Given the description of an element on the screen output the (x, y) to click on. 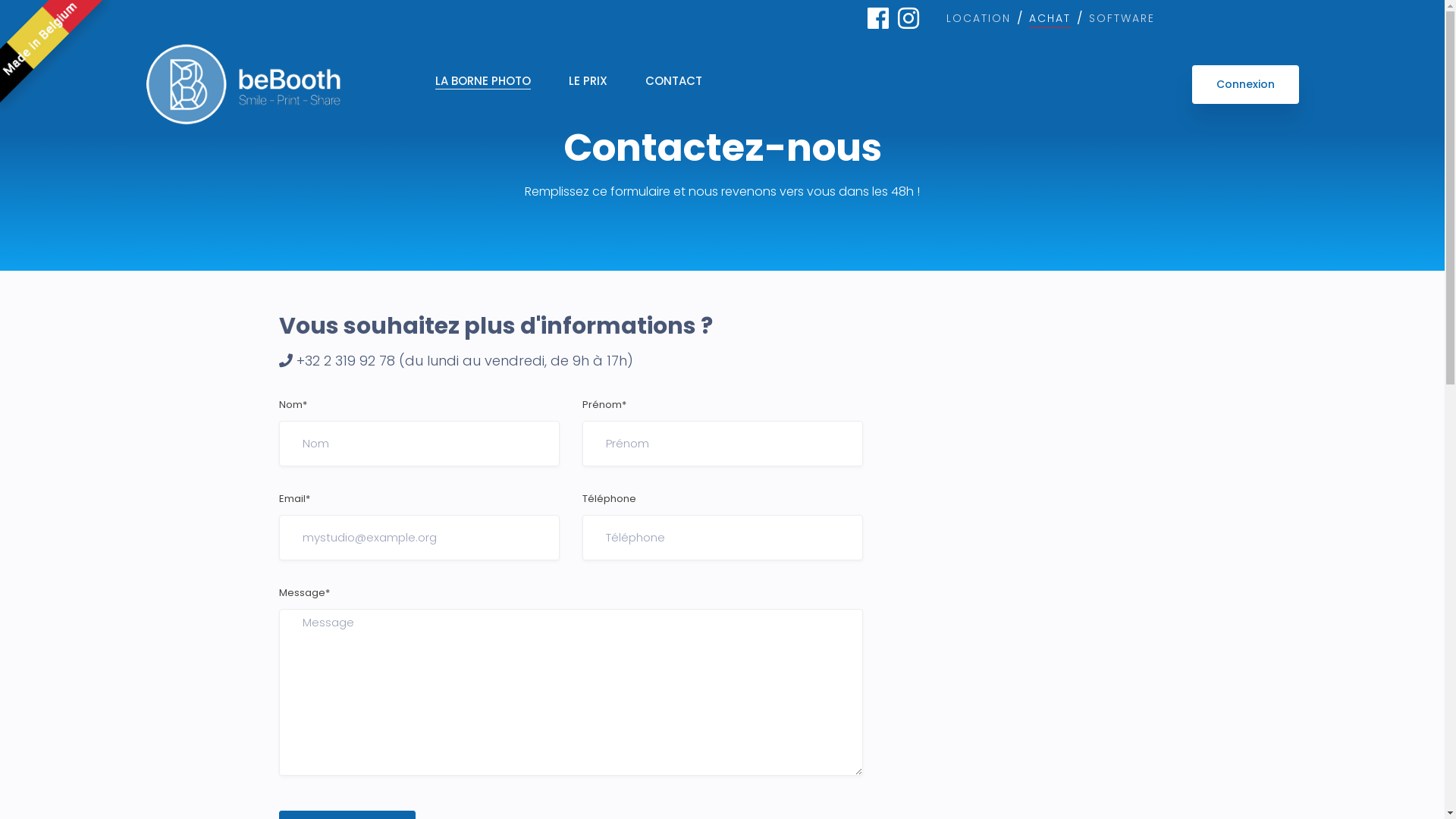
LA BORNE PHOTO Element type: text (482, 79)
ACHAT Element type: text (1049, 18)
LOCATION Element type: text (978, 18)
LE PRIX Element type: text (587, 79)
SOFTWARE Element type: text (1121, 18)
CONTACT Element type: text (673, 79)
Connexion Element type: text (1245, 84)
